Given the description of an element on the screen output the (x, y) to click on. 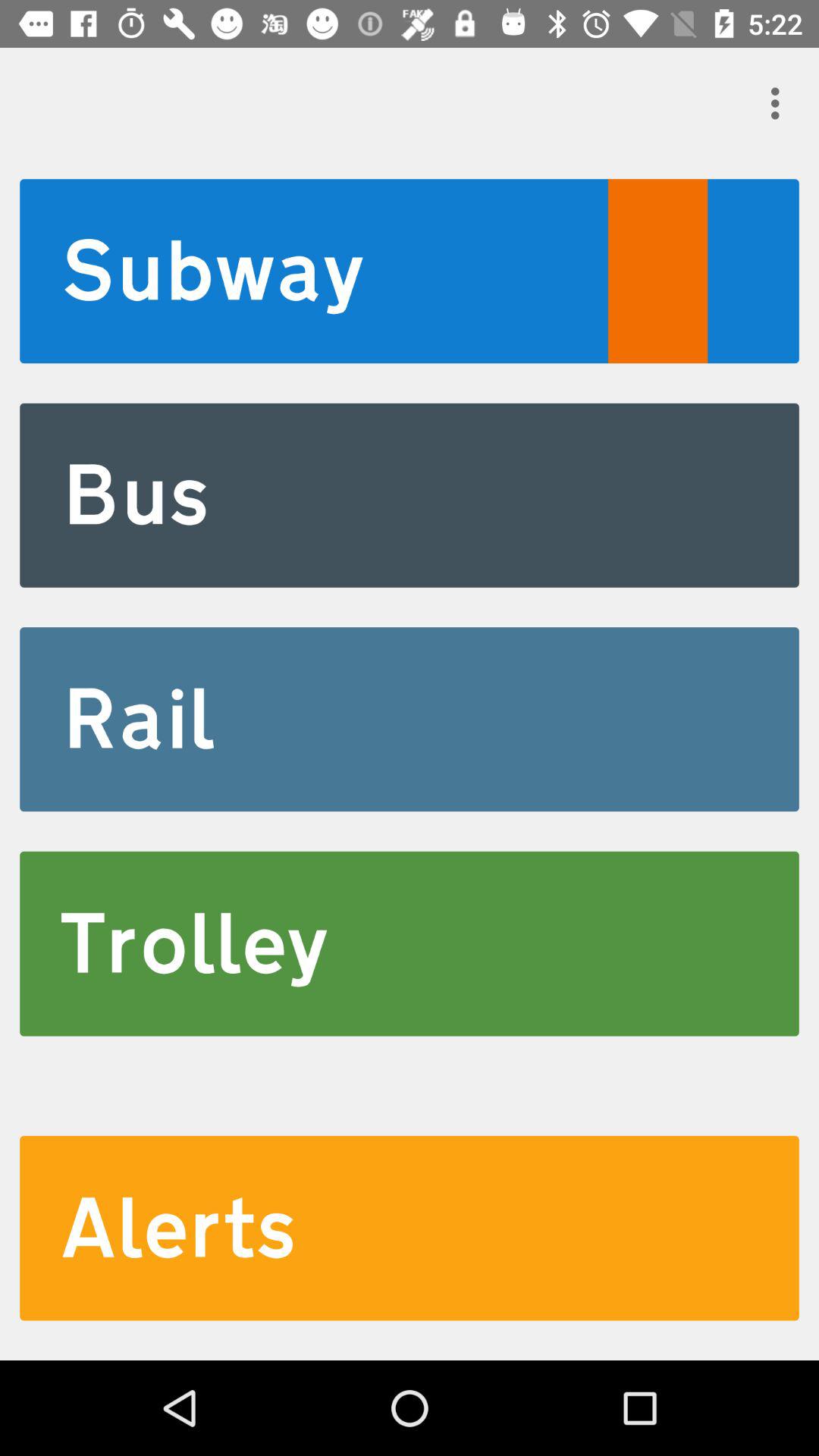
select item below the trolley icon (409, 1227)
